Given the description of an element on the screen output the (x, y) to click on. 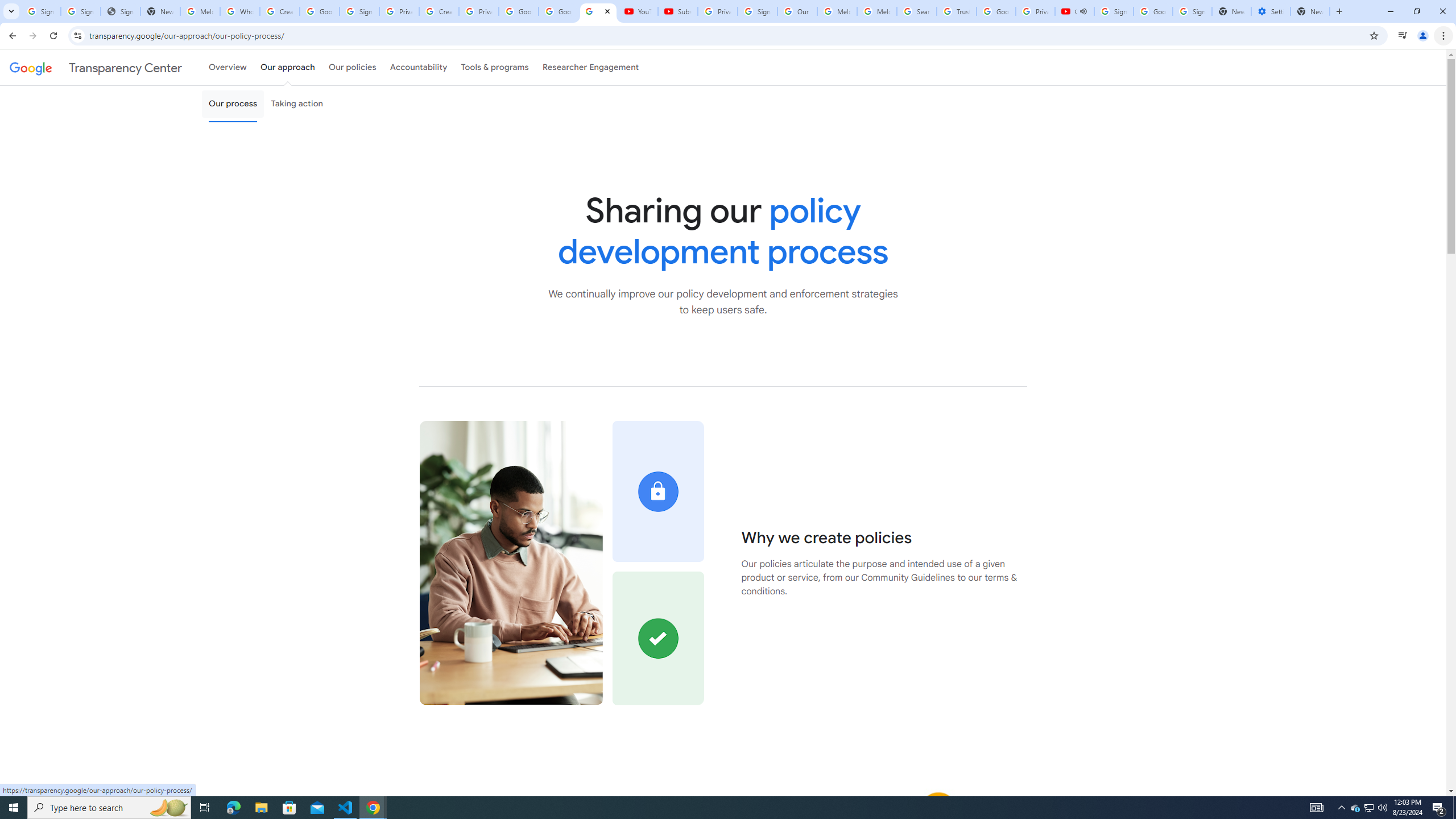
Subscriptions - YouTube (677, 11)
Google Ads - Sign in (995, 11)
Our policies (351, 67)
Search our Doodle Library Collection - Google Doodles (916, 11)
